Given the description of an element on the screen output the (x, y) to click on. 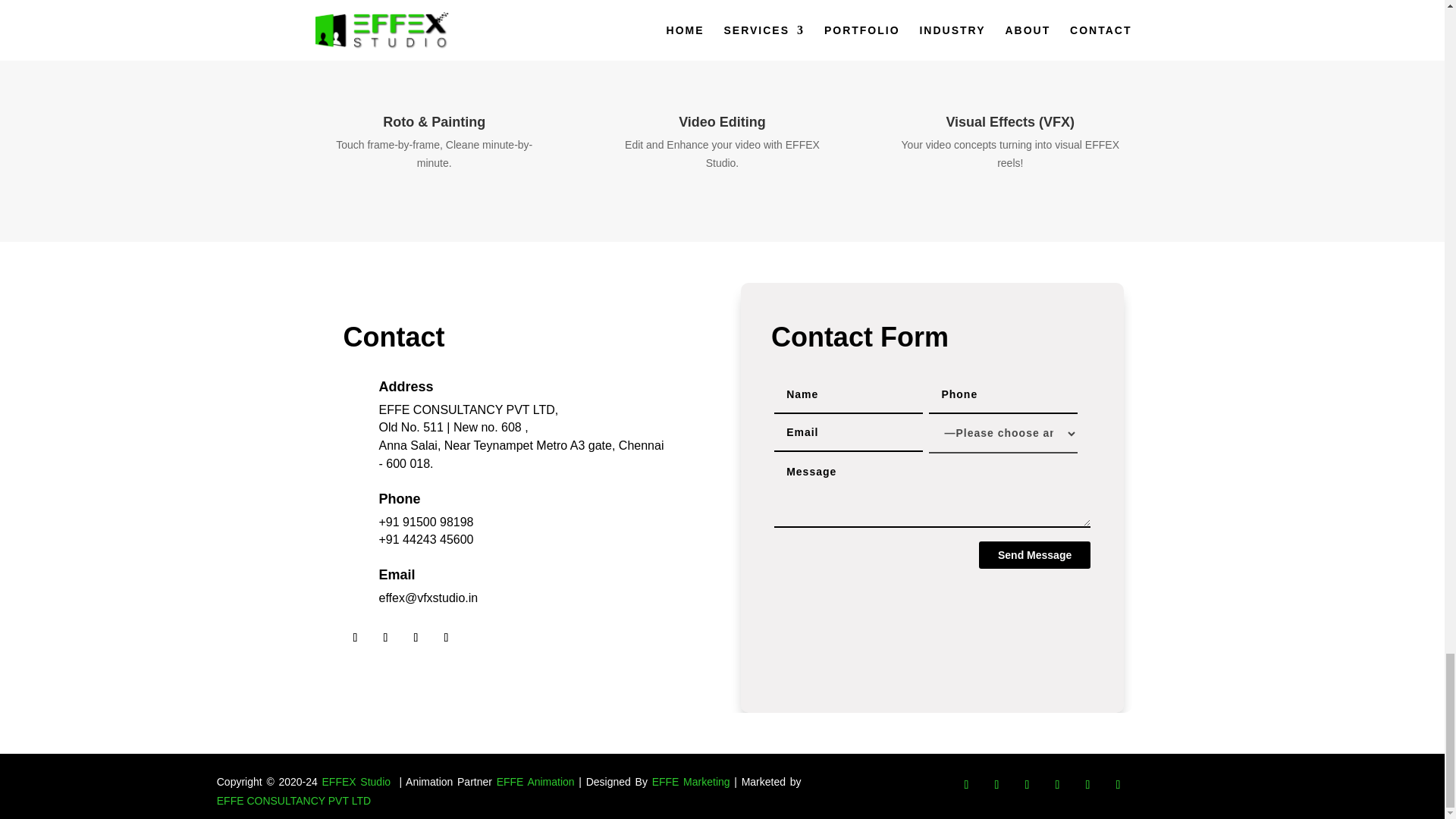
Follow on Youtube (1026, 784)
Follow on LinkedIn (1057, 784)
Send Message (1034, 554)
Follow on Facebook (966, 784)
Follow on Youtube (445, 637)
Follow on WhatsApp (1118, 784)
Follow on LinkedIn (415, 637)
Follow on Facebook (354, 637)
Video Editing (721, 121)
EFFE Animation (535, 781)
